Given the description of an element on the screen output the (x, y) to click on. 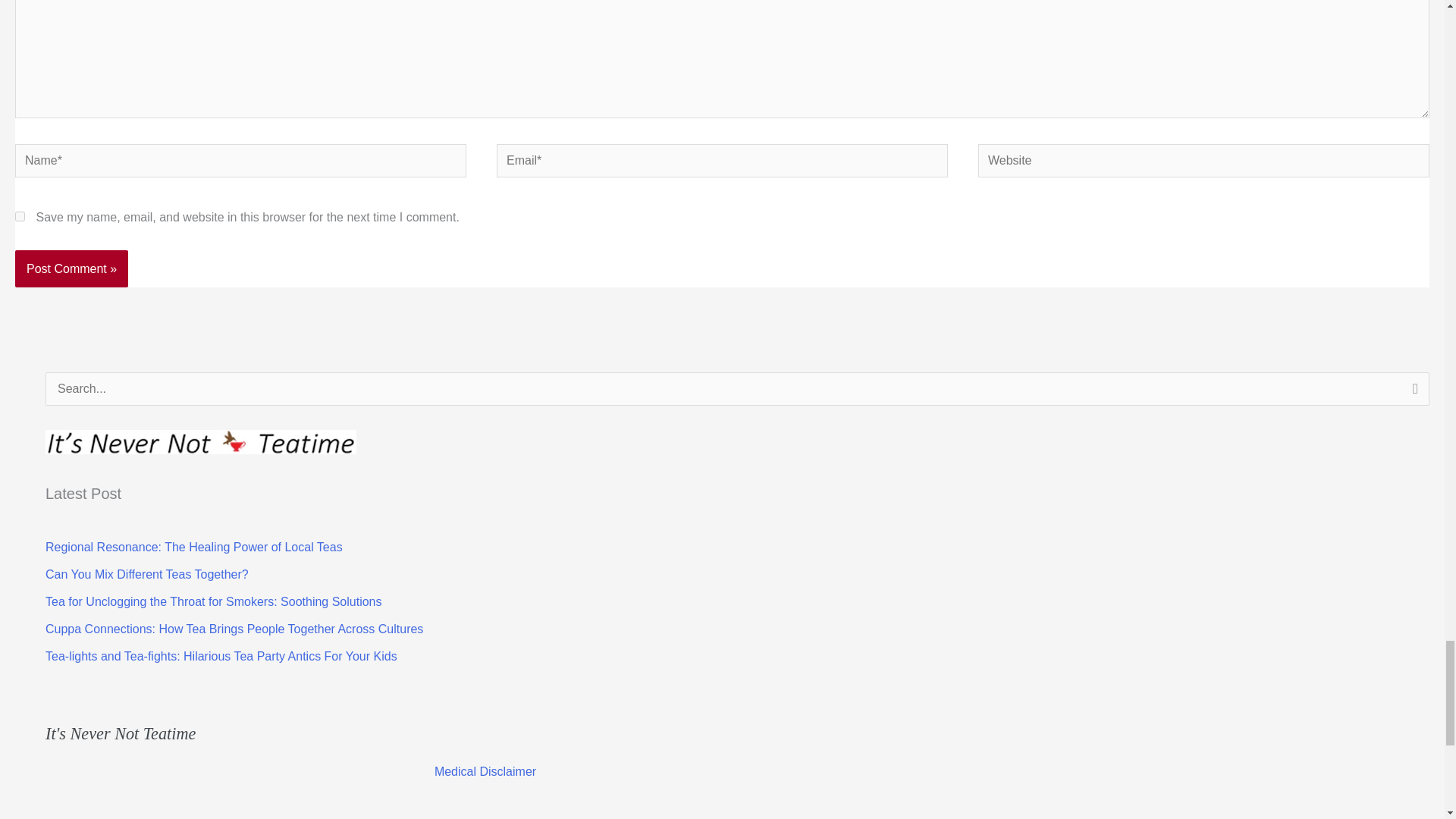
yes (19, 216)
